Given the description of an element on the screen output the (x, y) to click on. 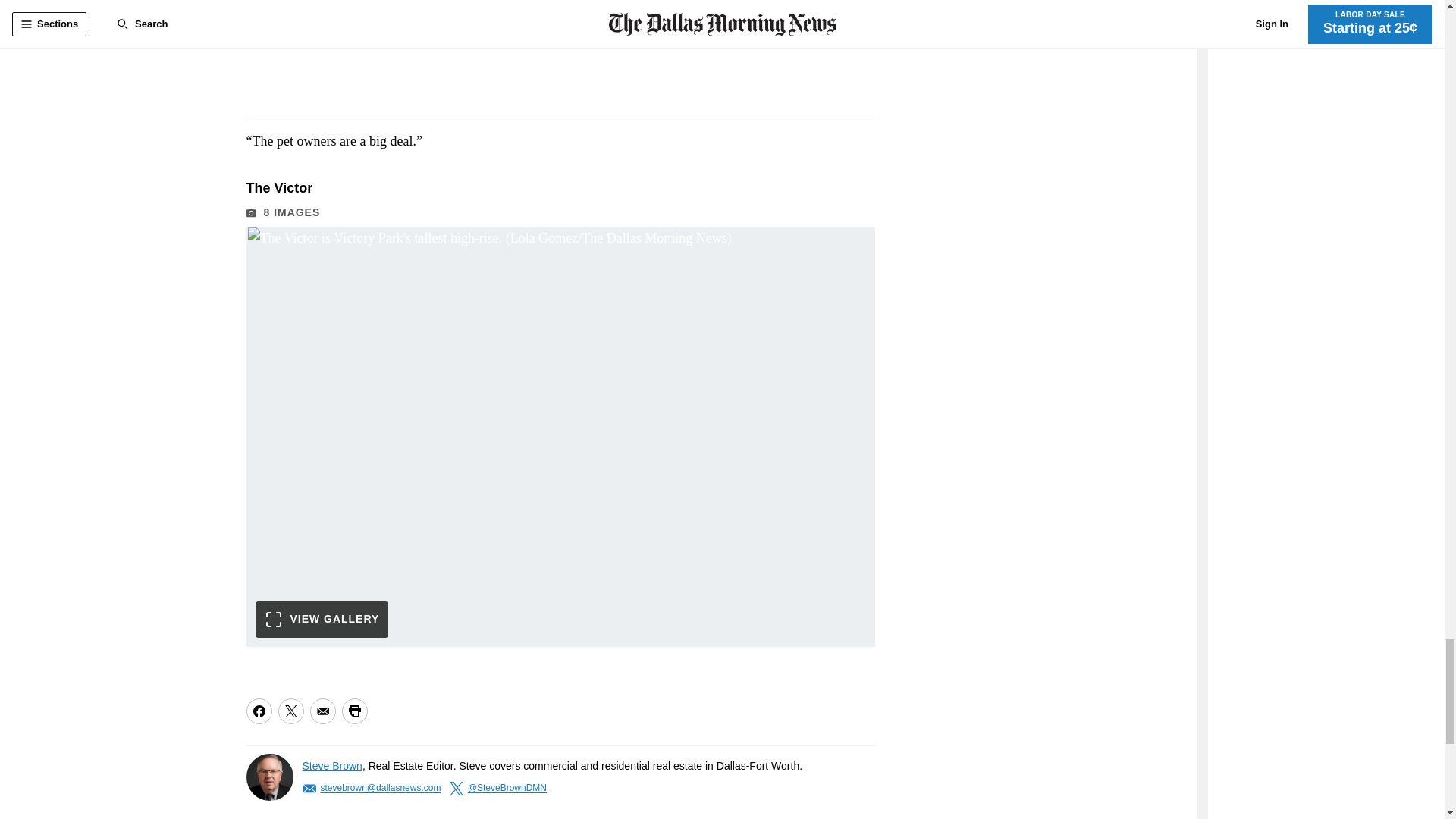
Share on Twitter (290, 710)
Print (353, 710)
Share on Facebook (258, 710)
Share via Email (321, 710)
